Given the description of an element on the screen output the (x, y) to click on. 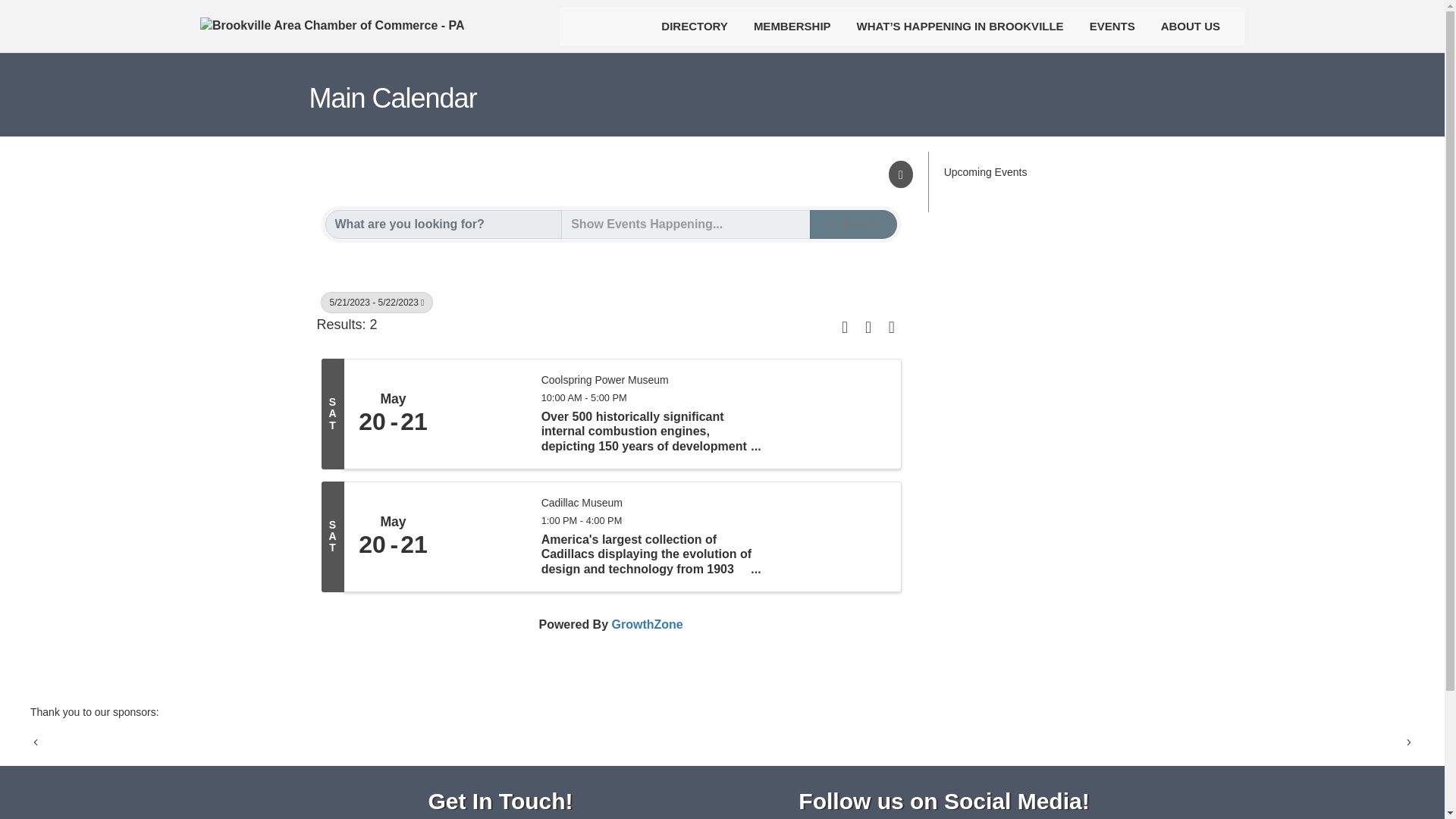
MEMBERSHIP (792, 25)
EVENTS (1112, 25)
DIRECTORY (694, 25)
